Given the description of an element on the screen output the (x, y) to click on. 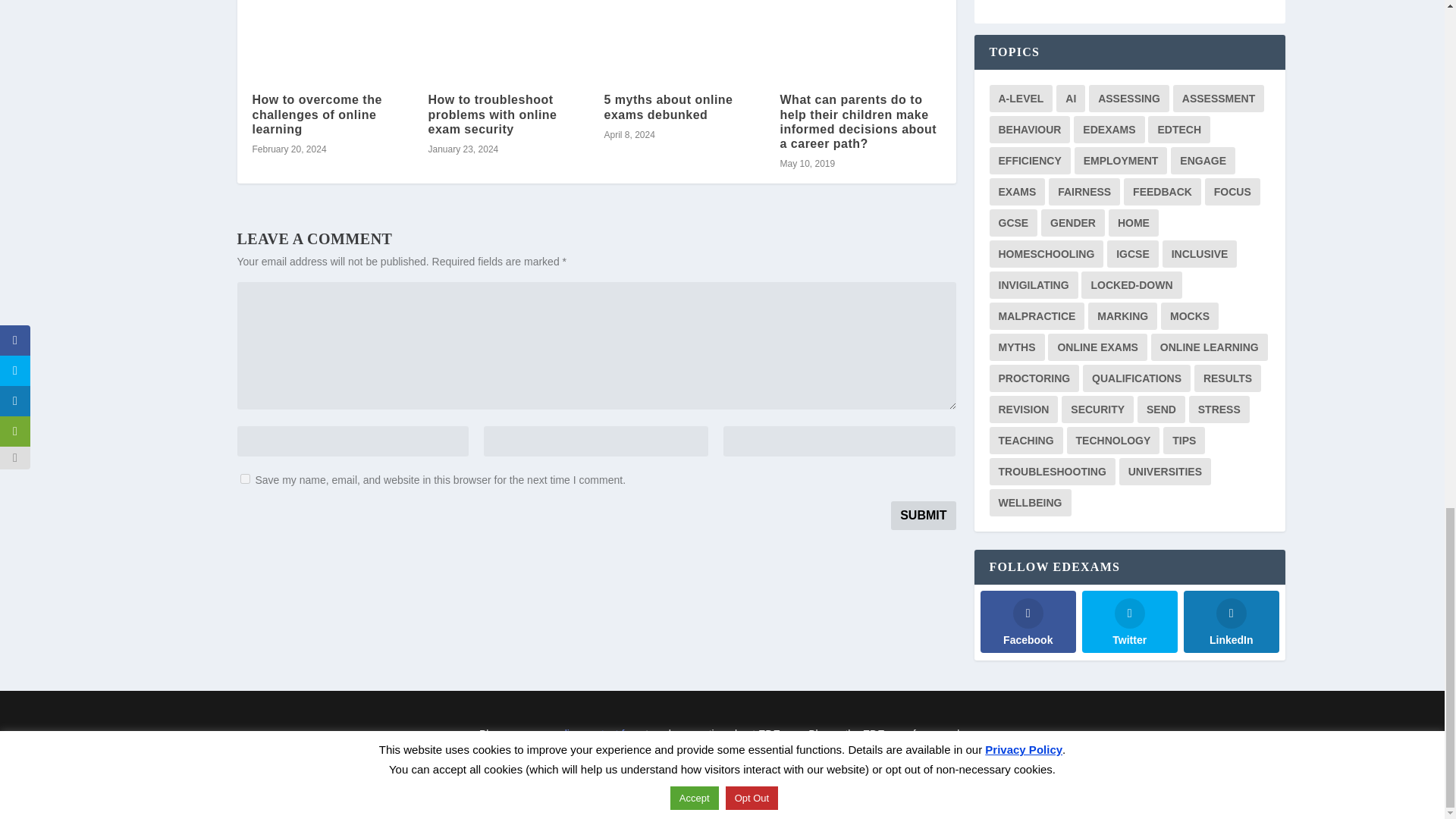
Submit (923, 515)
How to troubleshoot problems with online exam security (492, 113)
5 myths about online exams debunked (668, 106)
Submit (923, 515)
yes (244, 479)
How to overcome the challenges of online learning (316, 113)
